Given the description of an element on the screen output the (x, y) to click on. 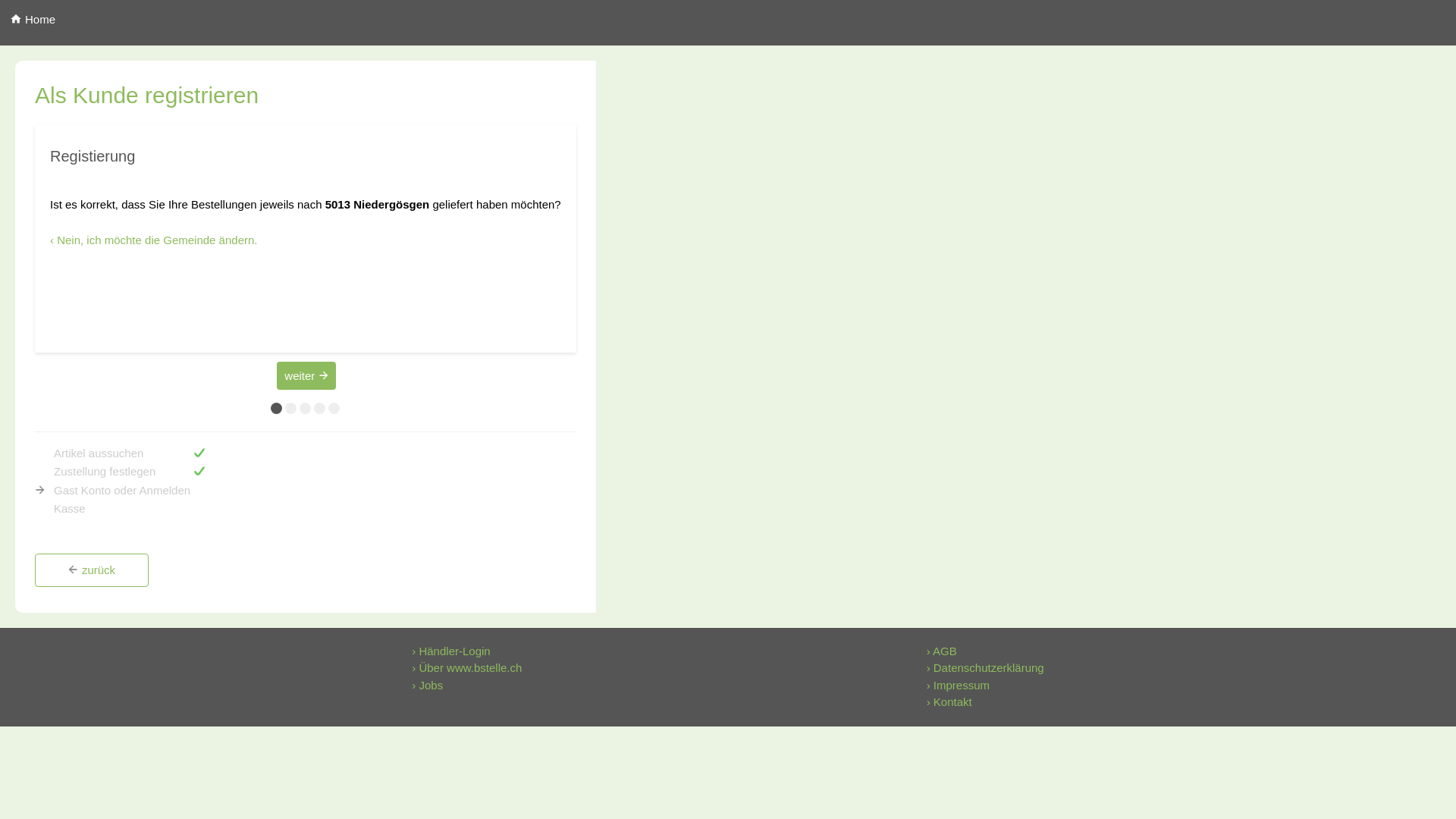
weiter Element type: text (305, 375)
Home Element type: text (33, 20)
